Given the description of an element on the screen output the (x, y) to click on. 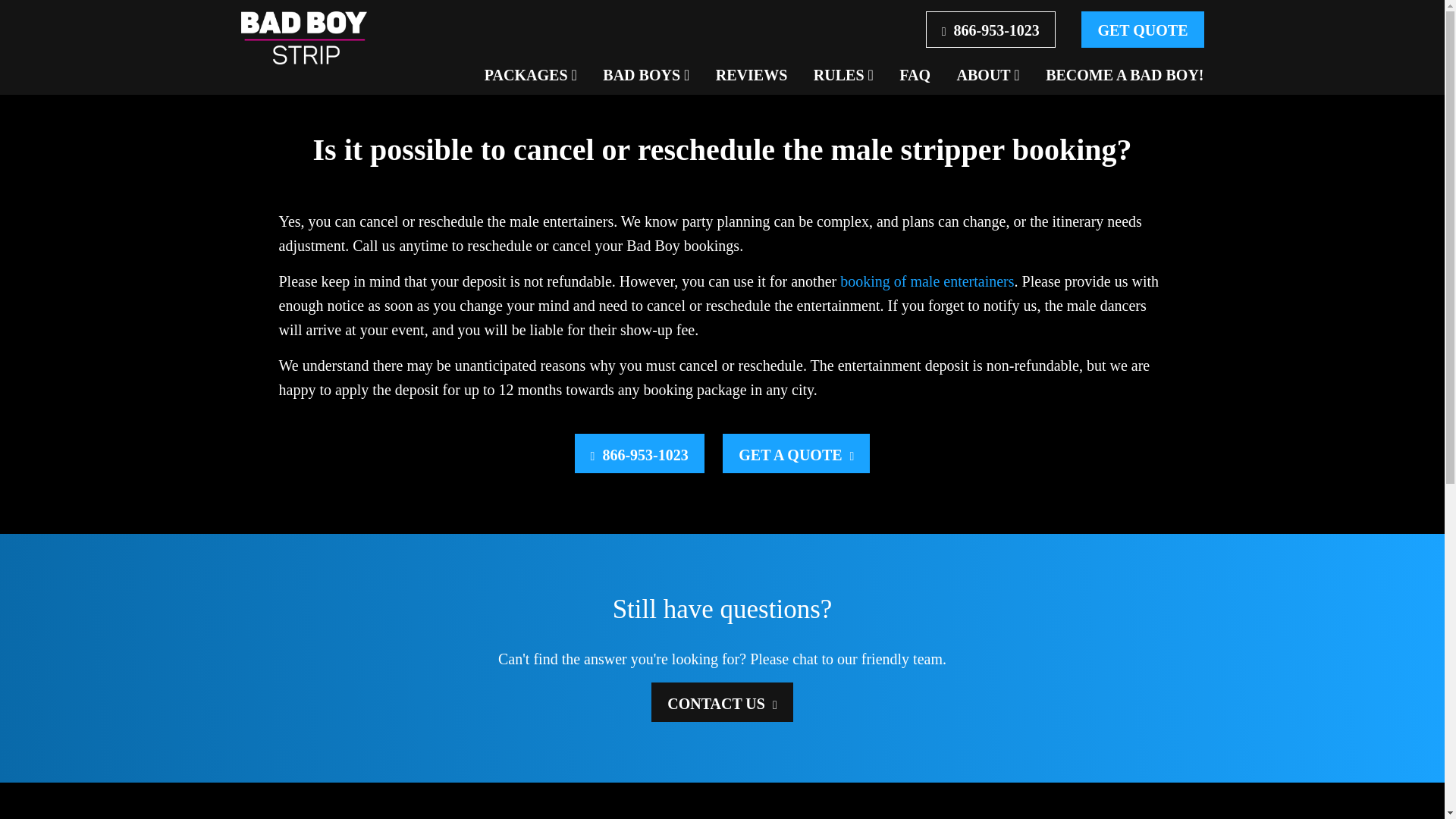
CONTACT US (721, 701)
male strippers (926, 280)
FAQ (914, 74)
866-953-1023 (639, 453)
REVIEWS (751, 74)
BECOME A BAD BOY! (1124, 74)
GET QUOTE (1142, 29)
booking of male entertainers (926, 280)
GET A QUOTE (795, 453)
866-953-1023 (990, 29)
